Given the description of an element on the screen output the (x, y) to click on. 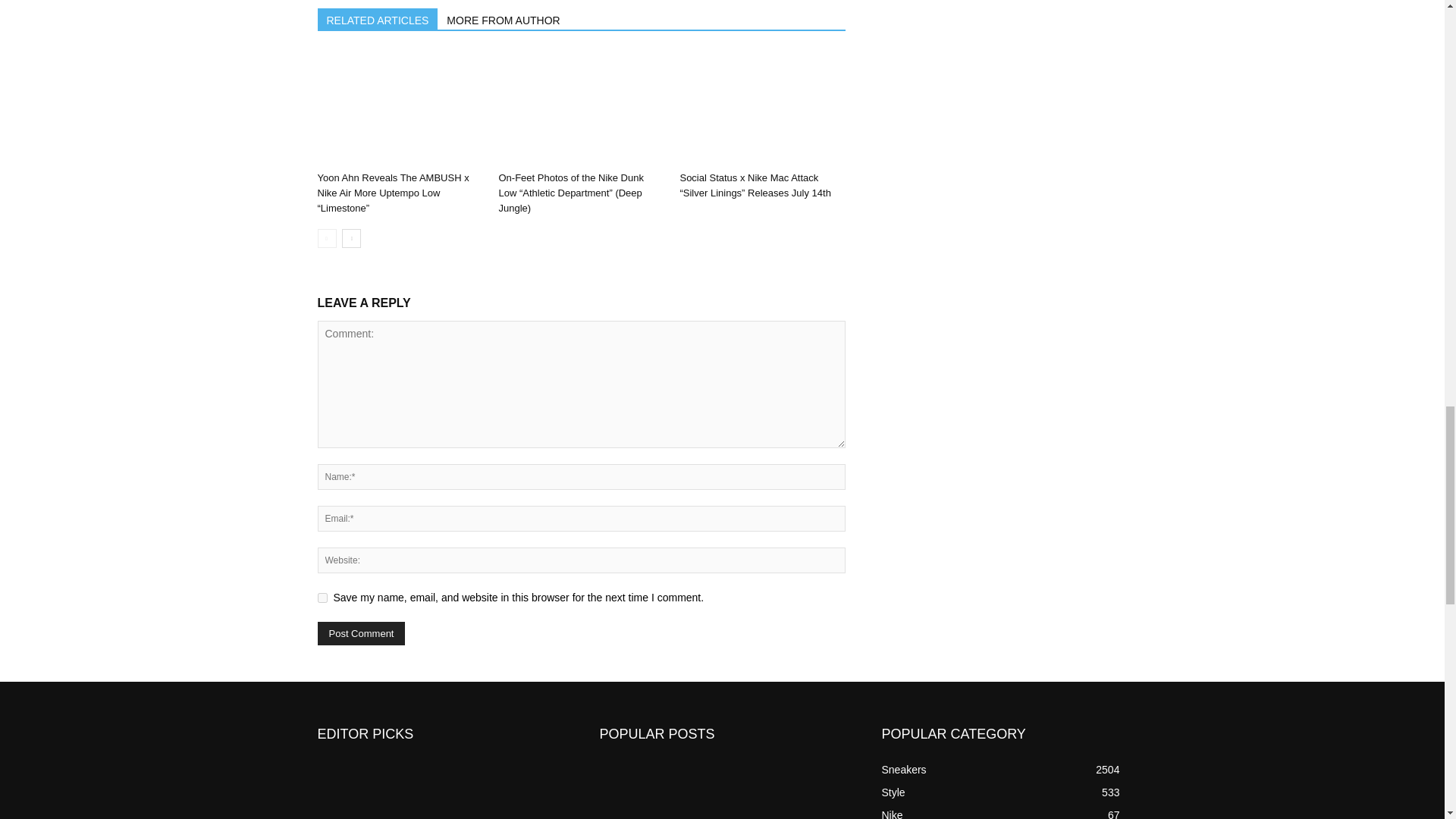
Post Comment (360, 633)
yes (321, 597)
